Given the description of an element on the screen output the (x, y) to click on. 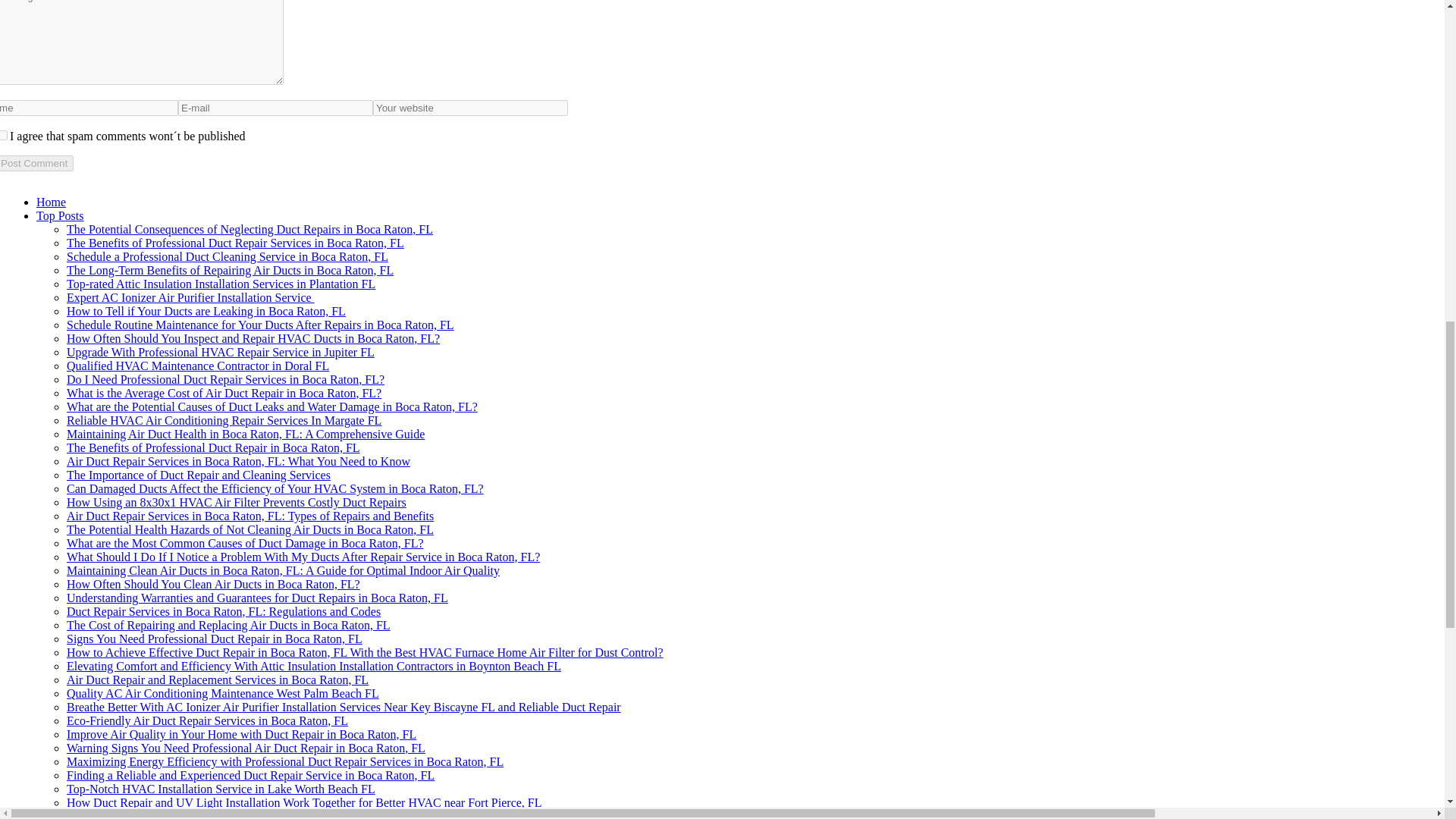
Qualified HVAC Maintenance Contractor in Doral FL (197, 365)
The Importance of Duct Repair and Cleaning Services (198, 474)
Post Comment (37, 163)
Expert AC Ionizer Air Purifier Installation Service  (190, 297)
Home (50, 201)
